Given the description of an element on the screen output the (x, y) to click on. 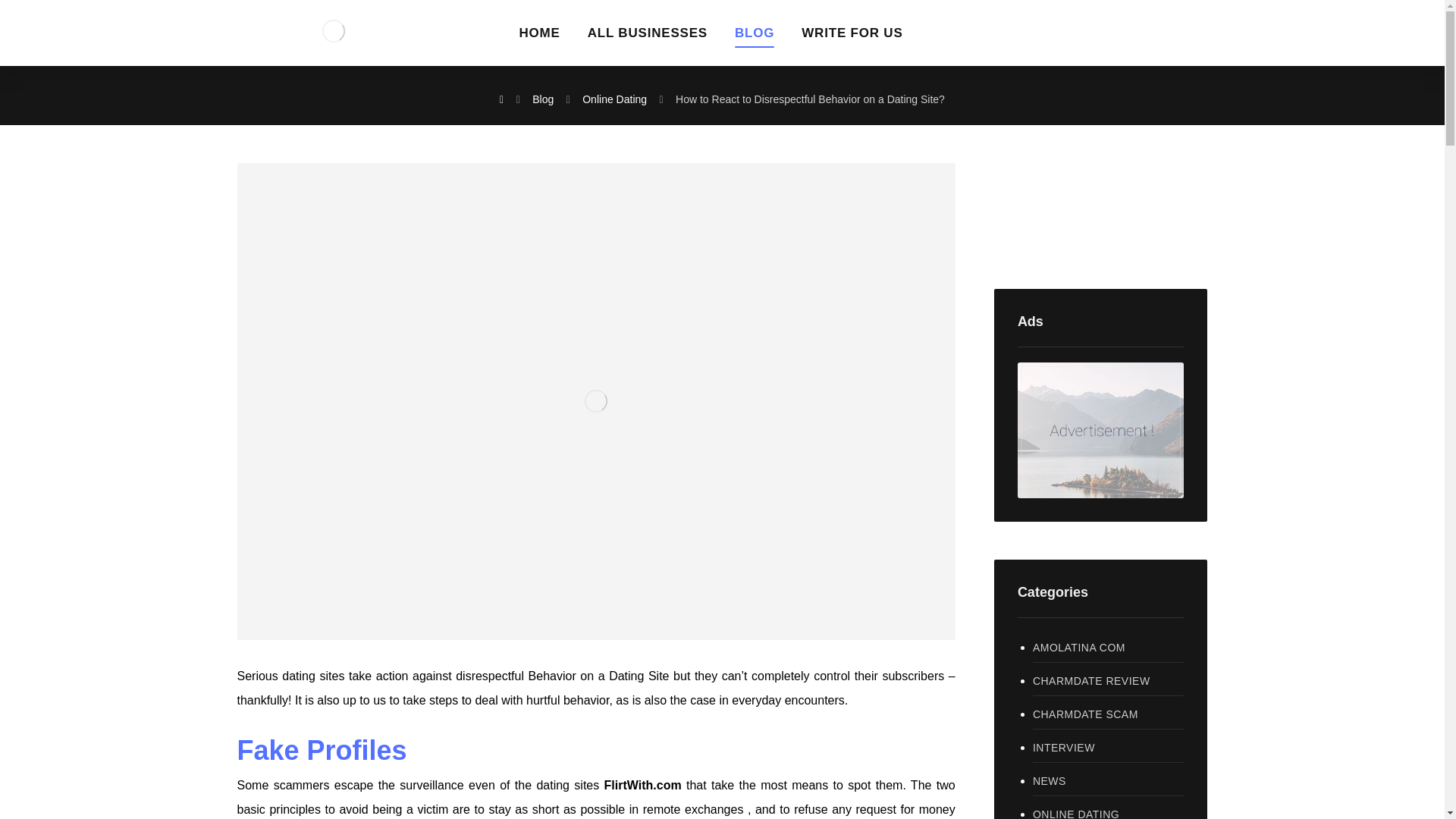
WRITE FOR US (852, 38)
Online Dating (614, 99)
How to React to Disrespectful Behavior on a Dating Site? (809, 99)
BLOG (754, 38)
Best Charm Date Review Website (332, 30)
ALL BUSINESSES (647, 38)
Blog (542, 99)
HOME (538, 38)
FlirtWith.com (642, 784)
